Given the description of an element on the screen output the (x, y) to click on. 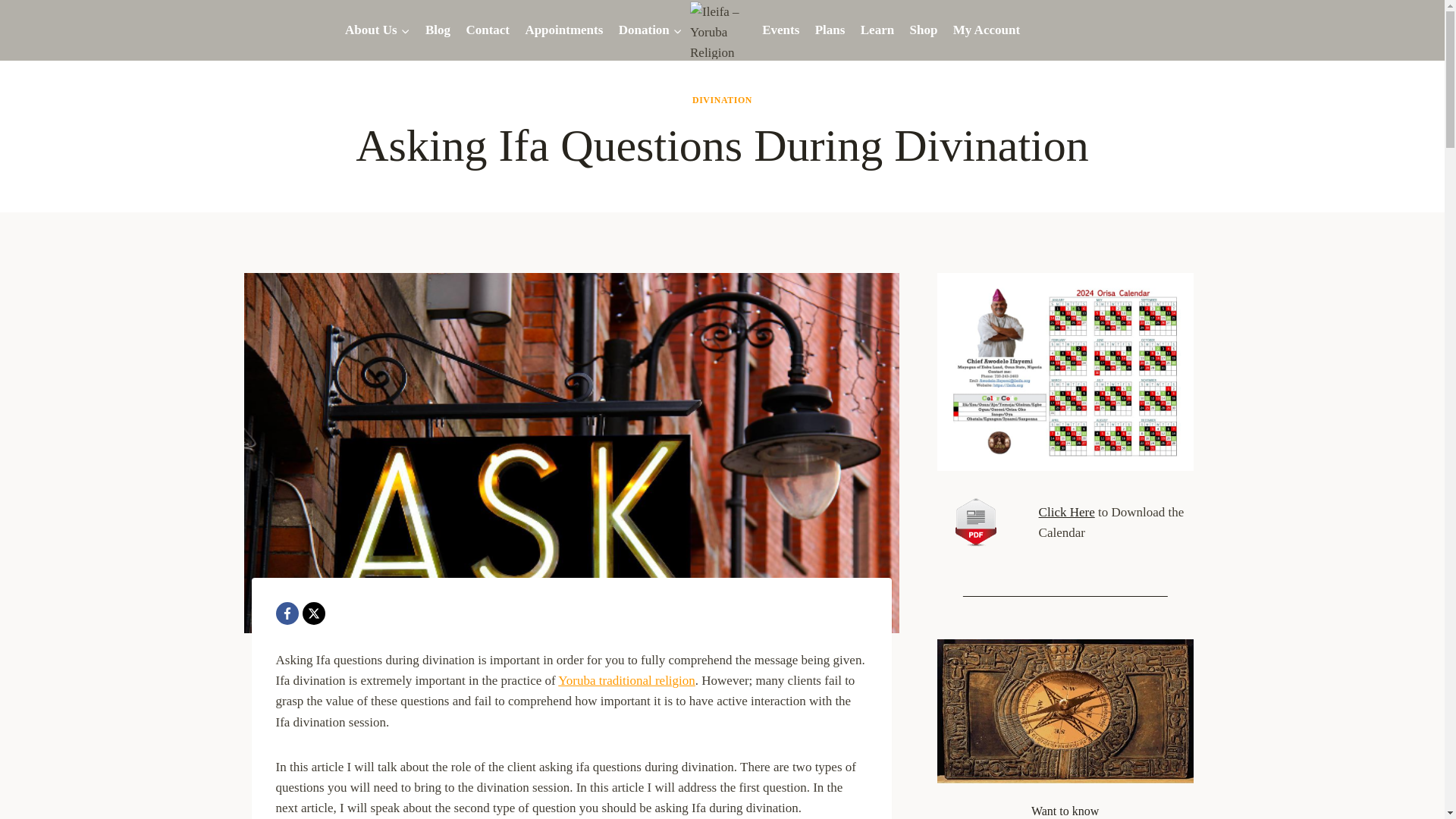
Yoruba traditional religion (626, 680)
Events (781, 30)
My Account (985, 30)
Shop (922, 30)
Donation (650, 30)
About Us (377, 30)
Blog (437, 30)
Contact (487, 30)
Learn (877, 30)
Appointments (563, 30)
